Given the description of an element on the screen output the (x, y) to click on. 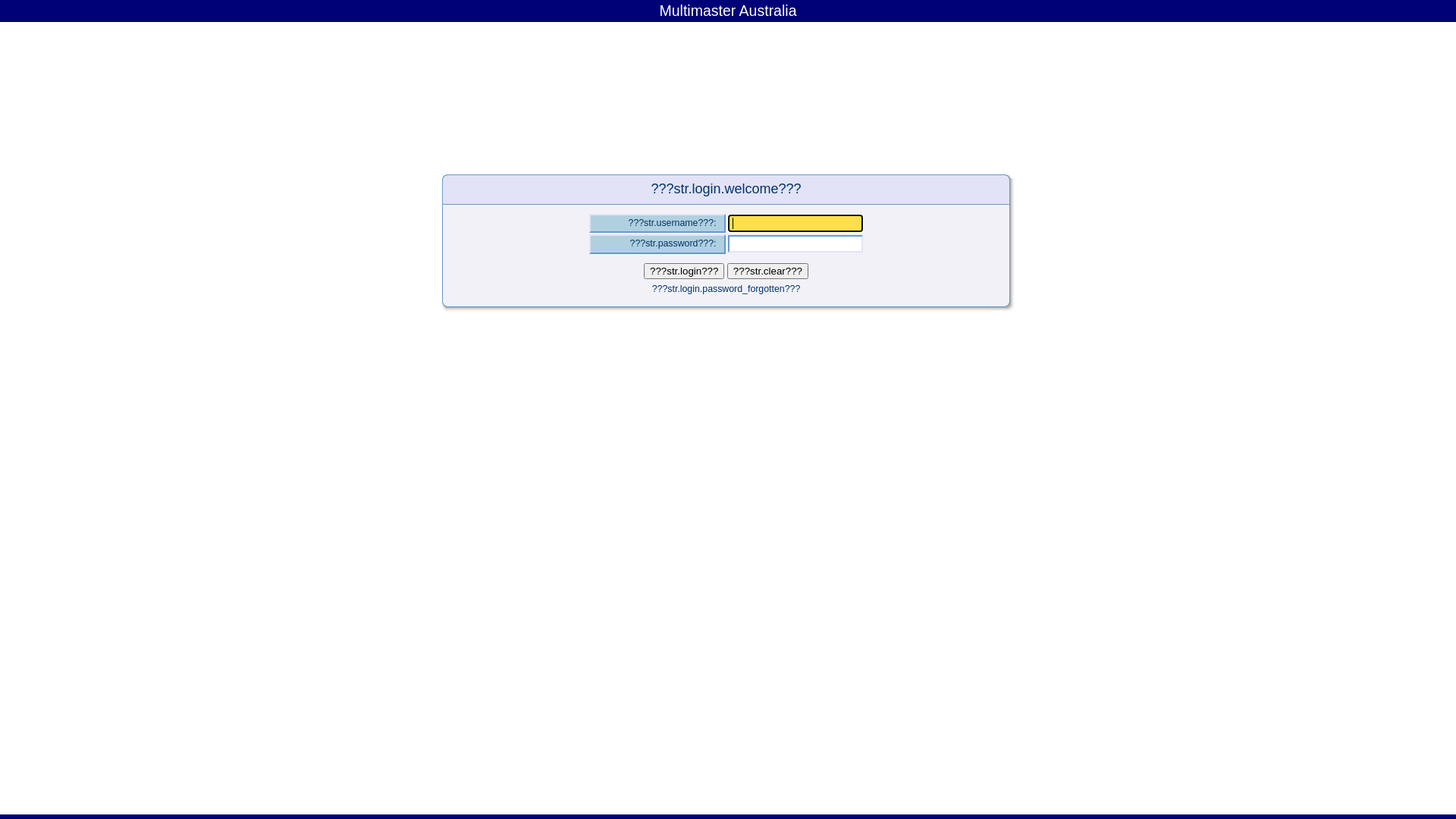
???str.login??? Element type: text (683, 270)
???str.login.password_forgotten??? Element type: text (726, 288)
